Given the description of an element on the screen output the (x, y) to click on. 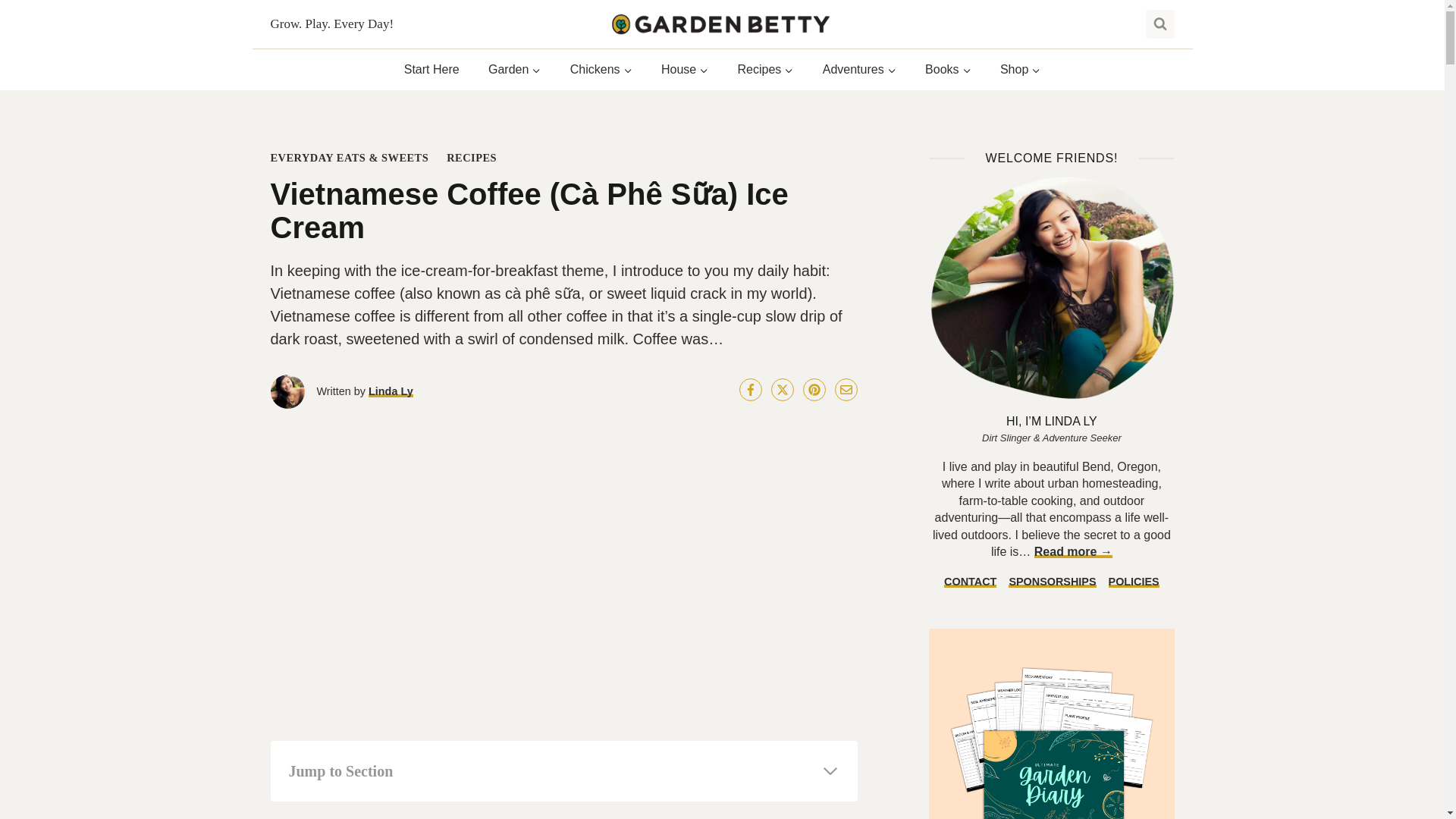
Adventures (859, 69)
Shop (1020, 69)
Start Here (432, 69)
Chickens (601, 69)
Books (948, 69)
Recipes (765, 69)
Garden (515, 69)
House (684, 69)
